Given the description of an element on the screen output the (x, y) to click on. 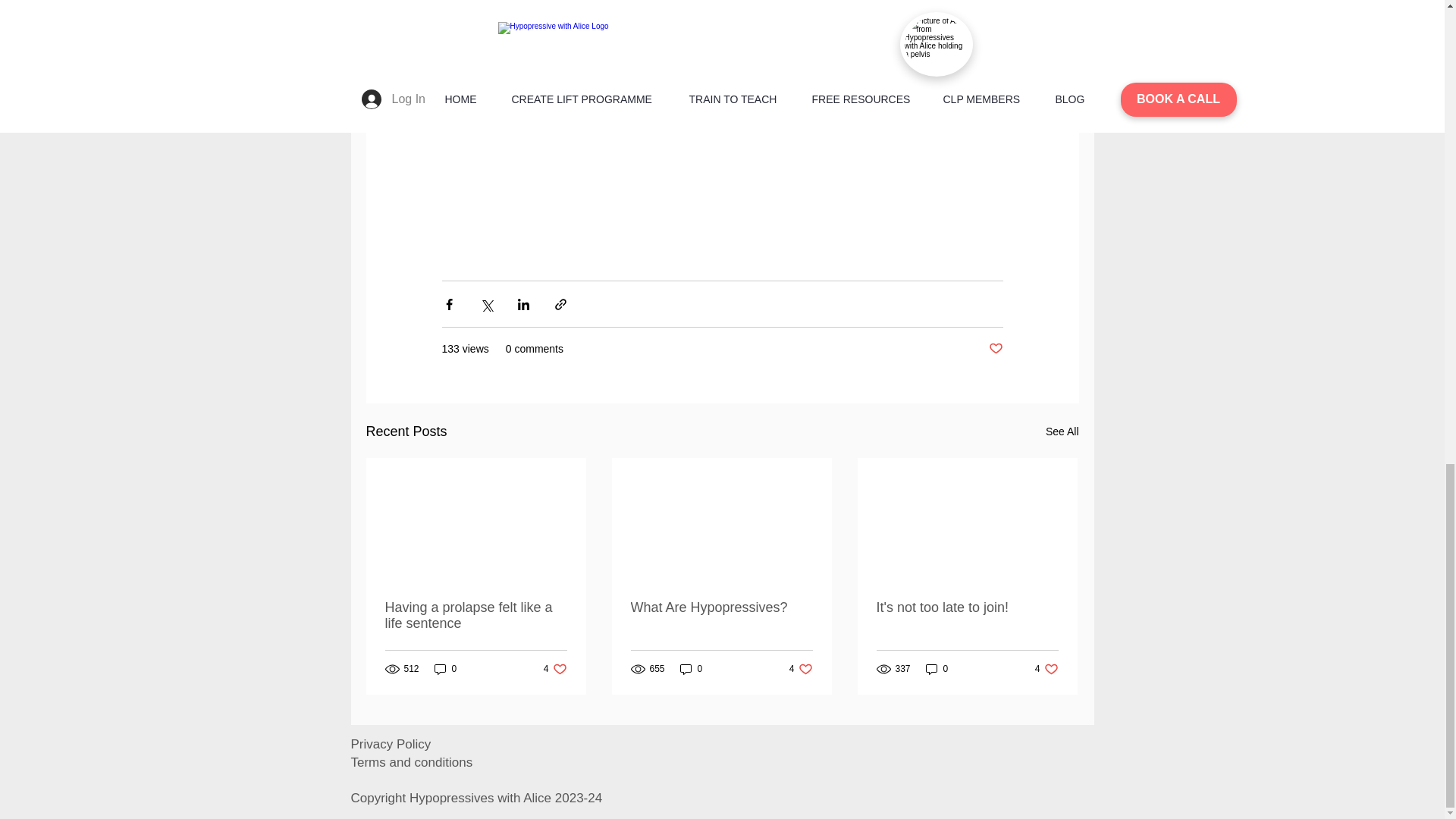
0 (445, 667)
What Are Hypopressives? (721, 607)
See All (1061, 431)
Having a prolapse felt like a life sentence (476, 615)
Post not marked as liked (555, 667)
